Given the description of an element on the screen output the (x, y) to click on. 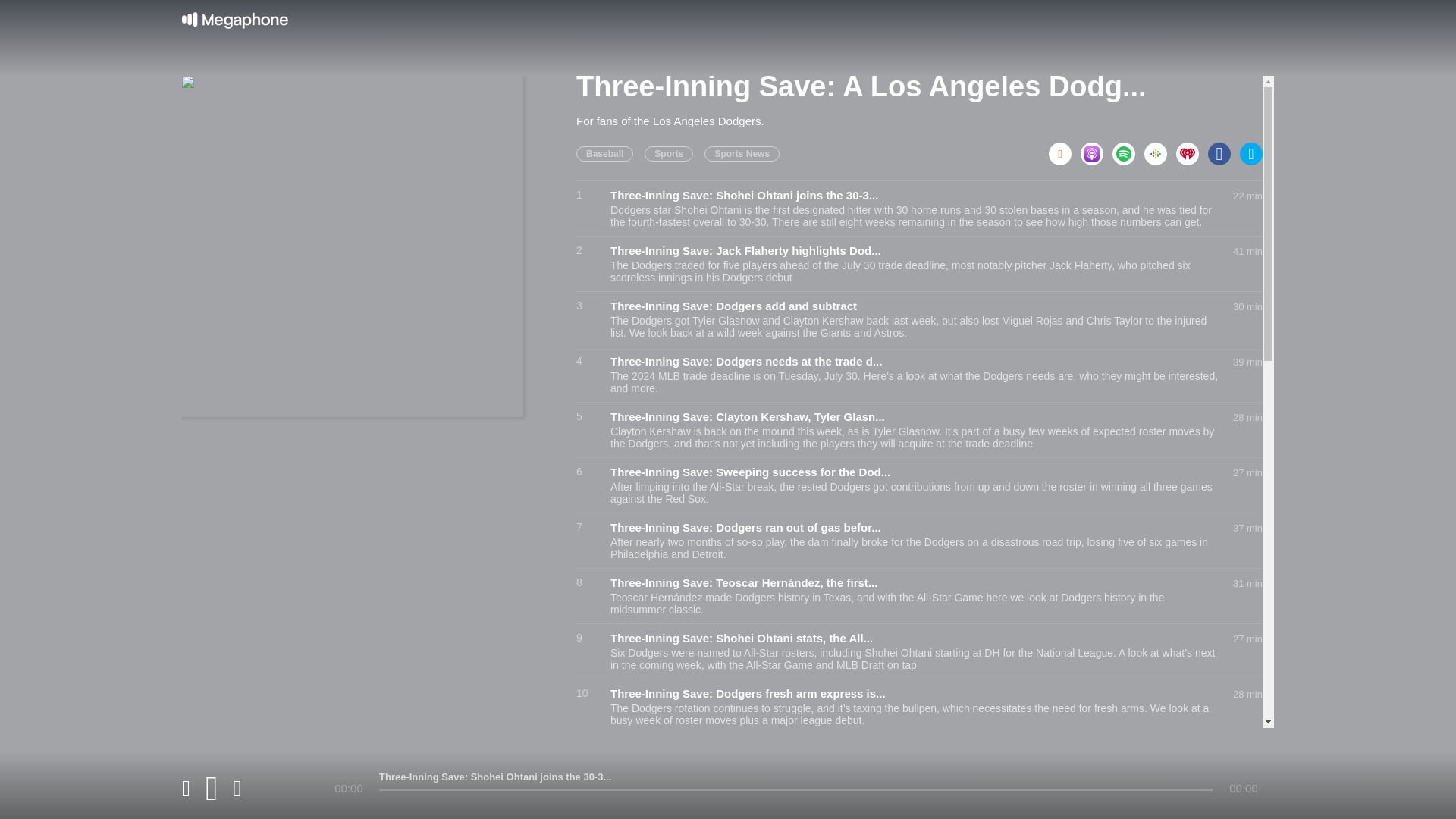
Subscribe via iHeart (1192, 148)
Share via Facebook (1224, 148)
Subscribe via Apple Podcasts (1096, 148)
Subscribe via Spotify (1128, 148)
Subscribe via RSS (1064, 148)
Subscribe via Google Podcasts (1160, 148)
Share via Twitter (1251, 148)
